Given the description of an element on the screen output the (x, y) to click on. 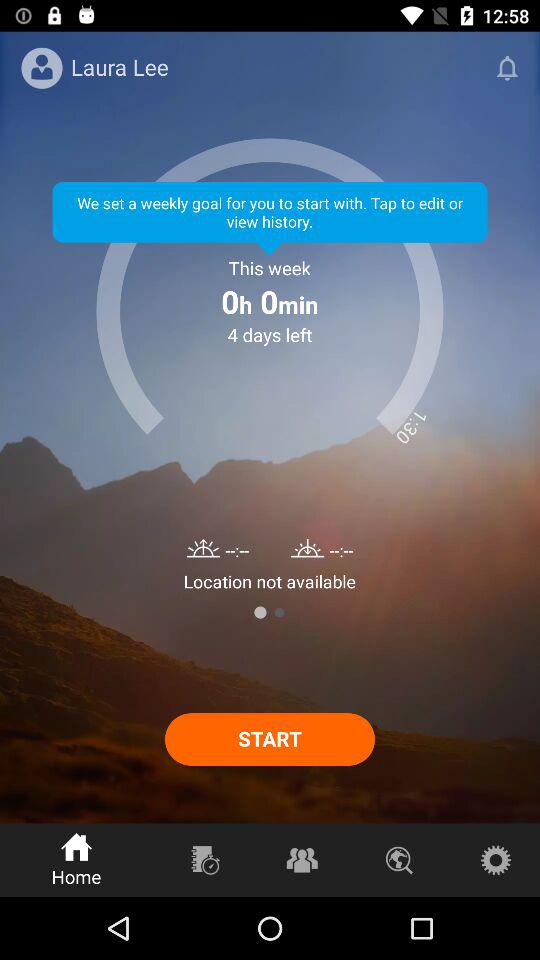
launch item below the location not available item (260, 612)
